Given the description of an element on the screen output the (x, y) to click on. 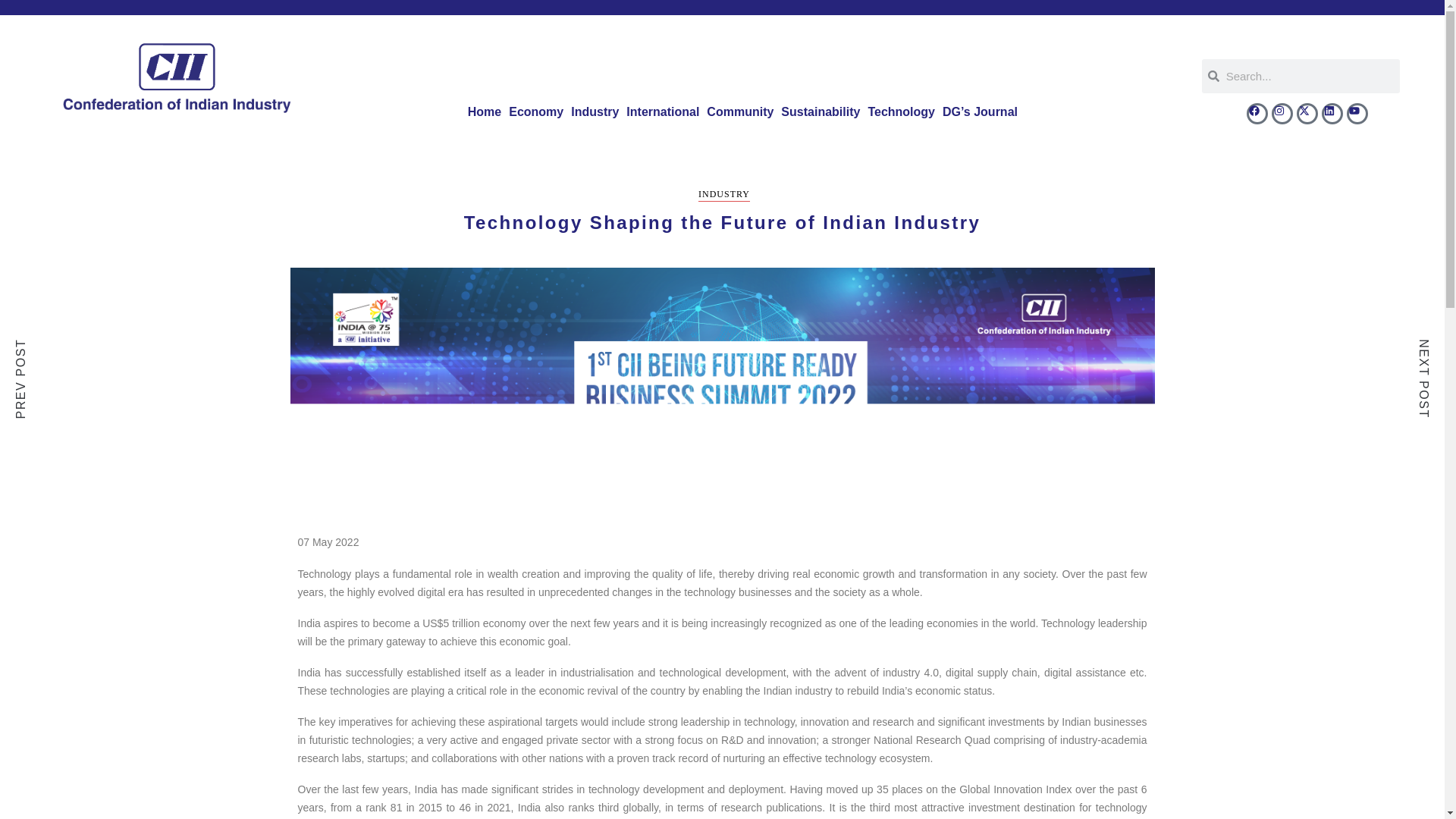
Sustainability (820, 112)
Technology (901, 112)
Community (740, 112)
Home (484, 112)
INDUSTRY (723, 195)
Economy (536, 112)
Industry (595, 112)
International (663, 112)
